Given the description of an element on the screen output the (x, y) to click on. 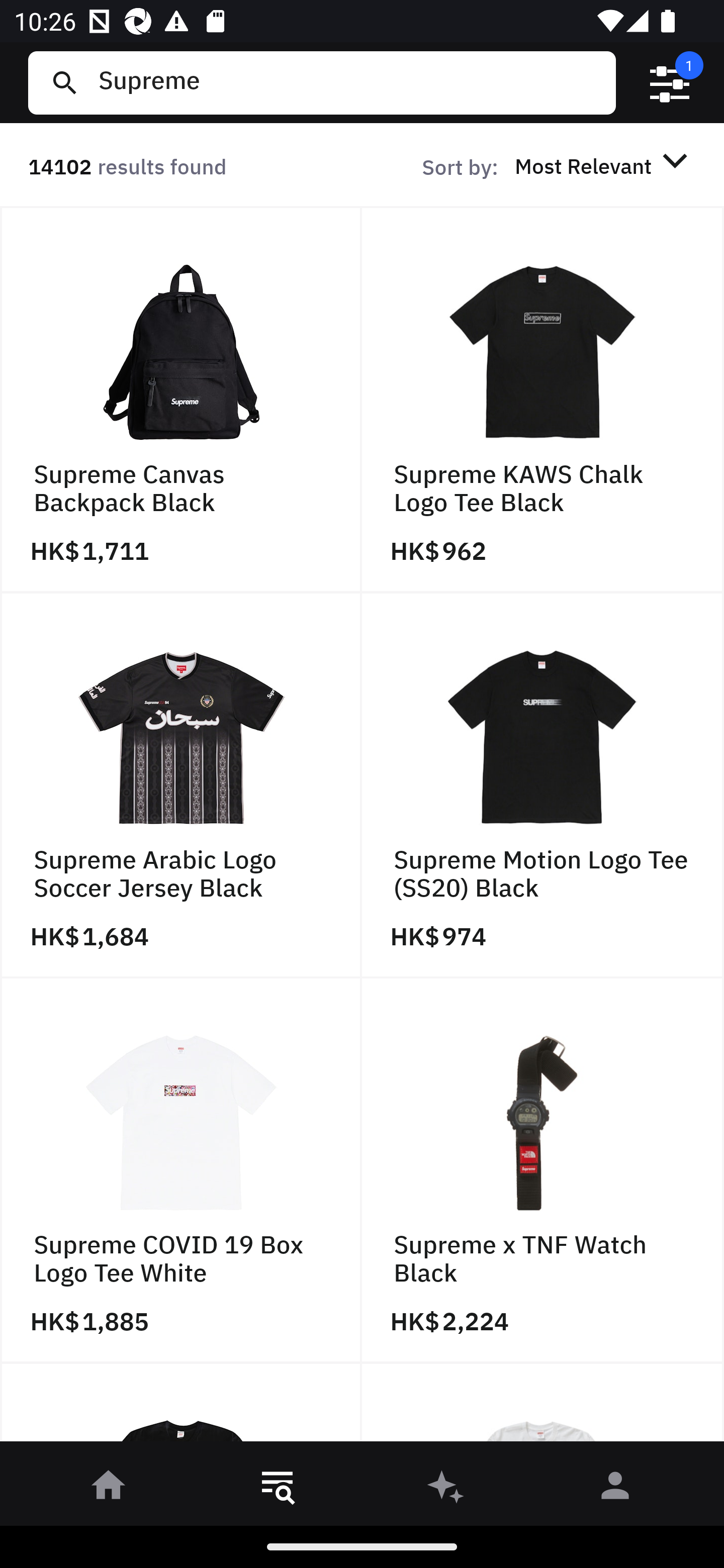
Supreme (349, 82)
 (669, 82)
Most Relevant  (604, 165)
Supreme Canvas Backpack Black HK$ 1,711 (181, 399)
Supreme KAWS Chalk Logo Tee Black HK$ 962 (543, 399)
Supreme Arabic Logo Soccer Jersey Black HK$ 1,684 (181, 785)
Supreme Motion Logo Tee (SS20) Black HK$ 974 (543, 785)
Supreme COVID 19 Box Logo Tee White HK$ 1,885 (181, 1171)
Supreme x TNF Watch Black HK$ 2,224 (543, 1171)
󰋜 (108, 1488)
󱎸 (277, 1488)
󰫢 (446, 1488)
󰀄 (615, 1488)
